Given the description of an element on the screen output the (x, y) to click on. 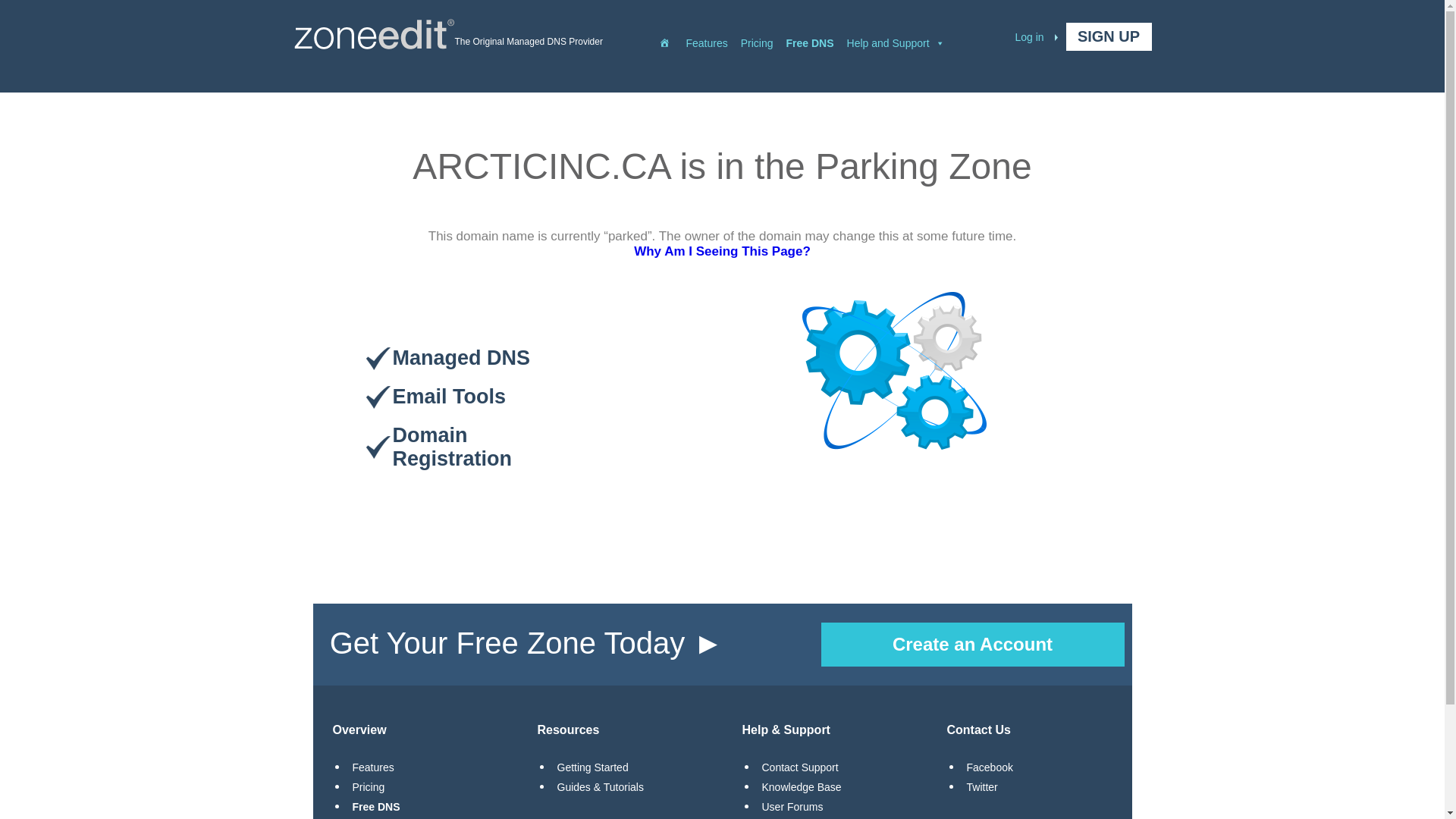
SIGN UP Element type: text (1108, 36)
Why Am I Seeing This Page? Element type: text (721, 251)
Free DNS Element type: text (816, 35)
Guides & Tutorials Element type: text (599, 787)
Pricing Element type: text (367, 787)
Log in Element type: text (1035, 37)
Facebook Element type: text (989, 767)
Getting Started Element type: text (591, 767)
Features Element type: text (372, 767)
User Forums Element type: text (791, 806)
Help and Support Element type: text (902, 35)
Pricing Element type: text (763, 35)
Free DNS Element type: text (375, 806)
Contact Support Element type: text (799, 767)
Knowledge Base Element type: text (800, 787)
Features Element type: text (712, 35)
Twitter Element type: text (981, 787)
Create an Account Element type: text (971, 644)
